Given the description of an element on the screen output the (x, y) to click on. 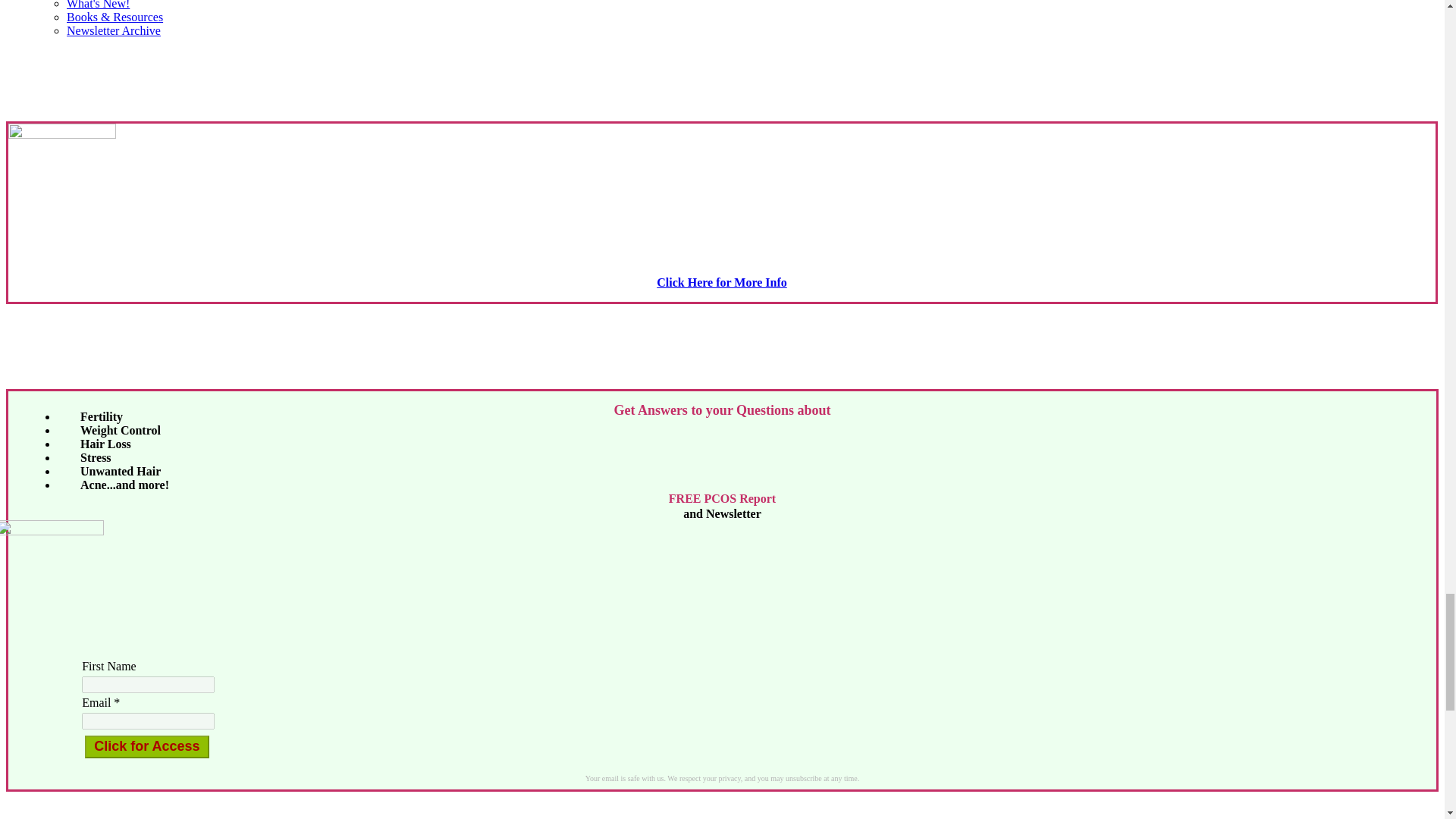
Go to 50 Simple Ways to Control PCOS with Diet E-Book (62, 133)
Click for Access (146, 746)
